Given the description of an element on the screen output the (x, y) to click on. 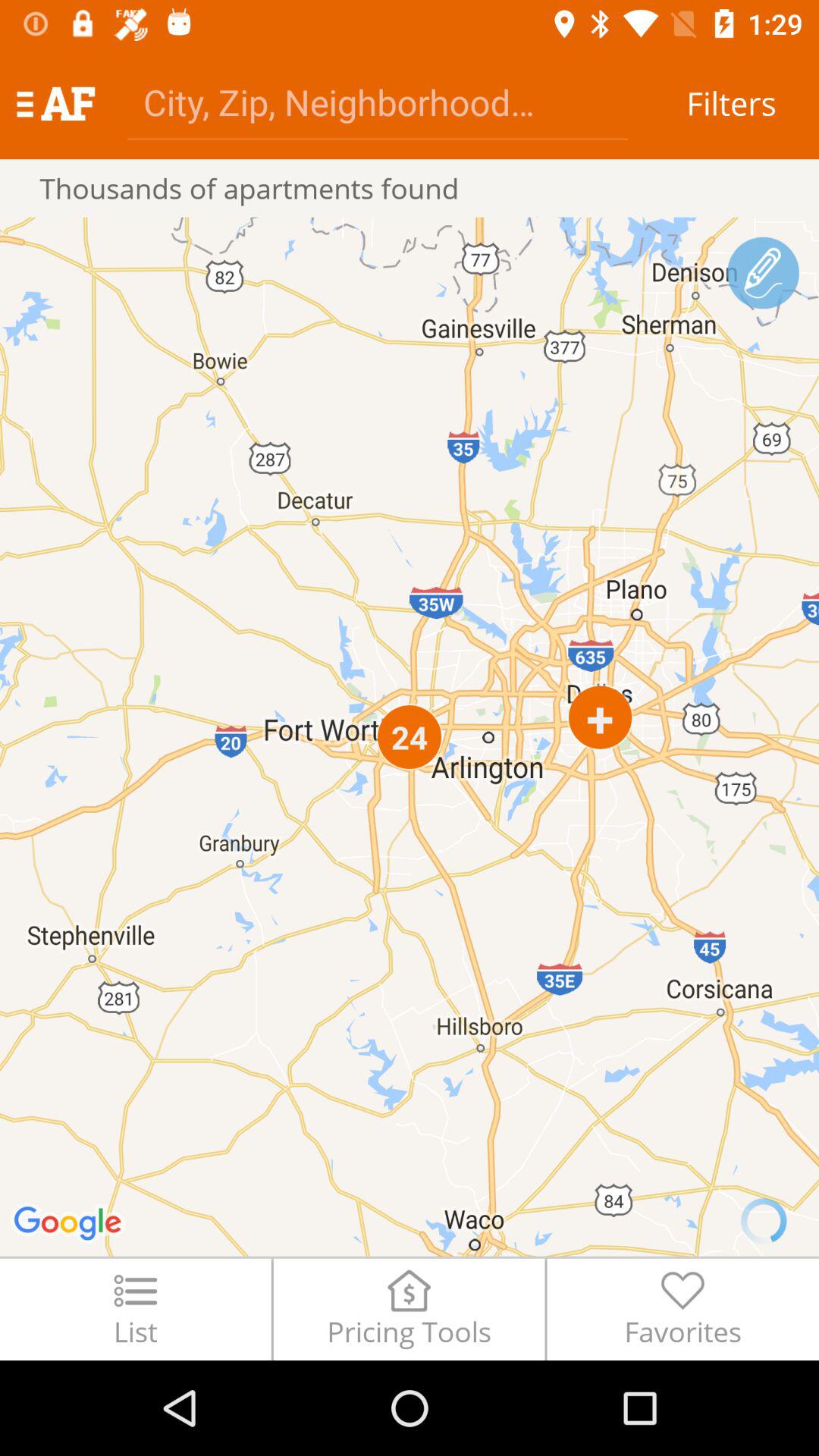
click the pricing tools item (408, 1309)
